Given the description of an element on the screen output the (x, y) to click on. 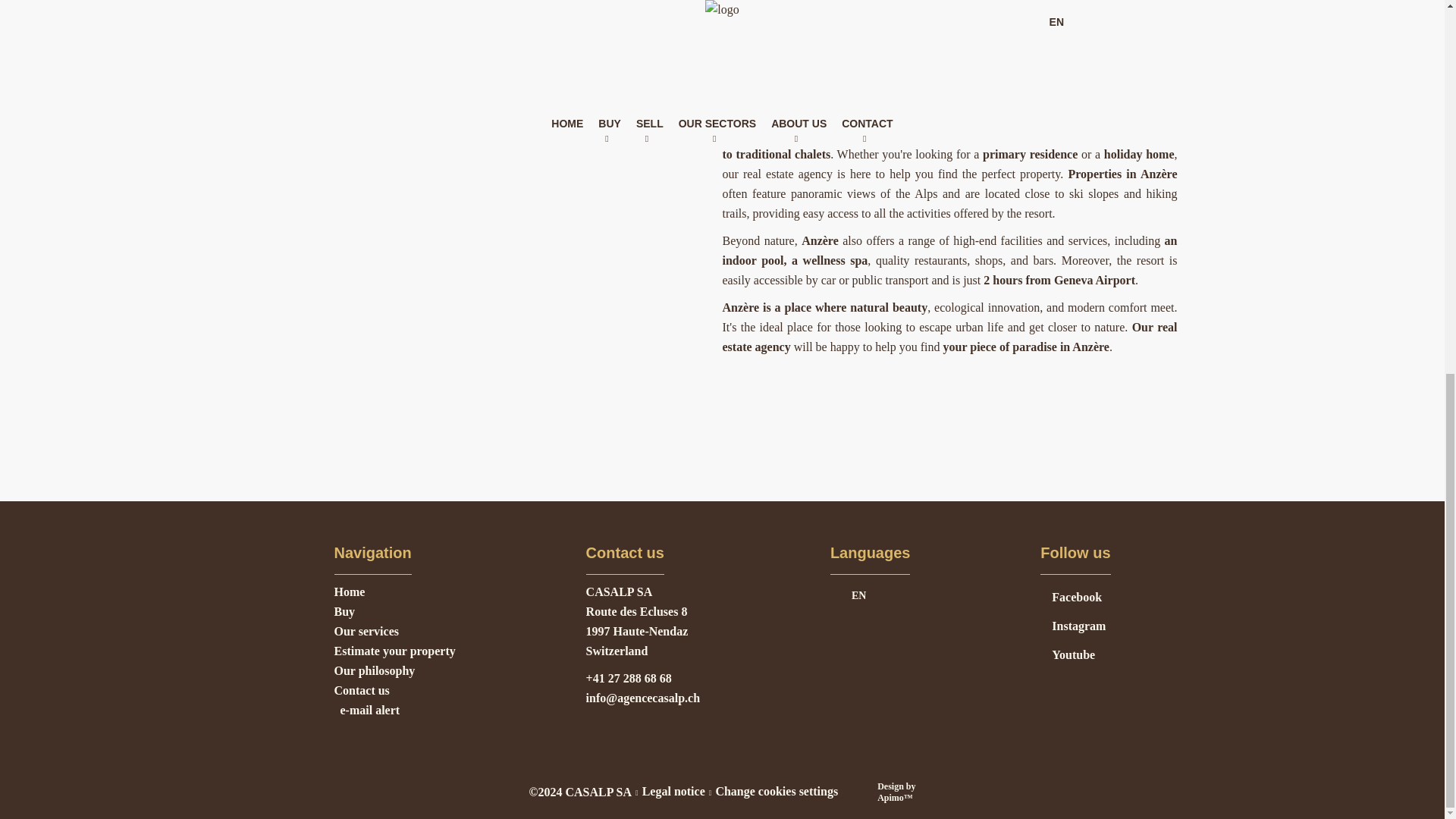
Home (349, 591)
en (870, 595)
Buy (344, 611)
